Given the description of an element on the screen output the (x, y) to click on. 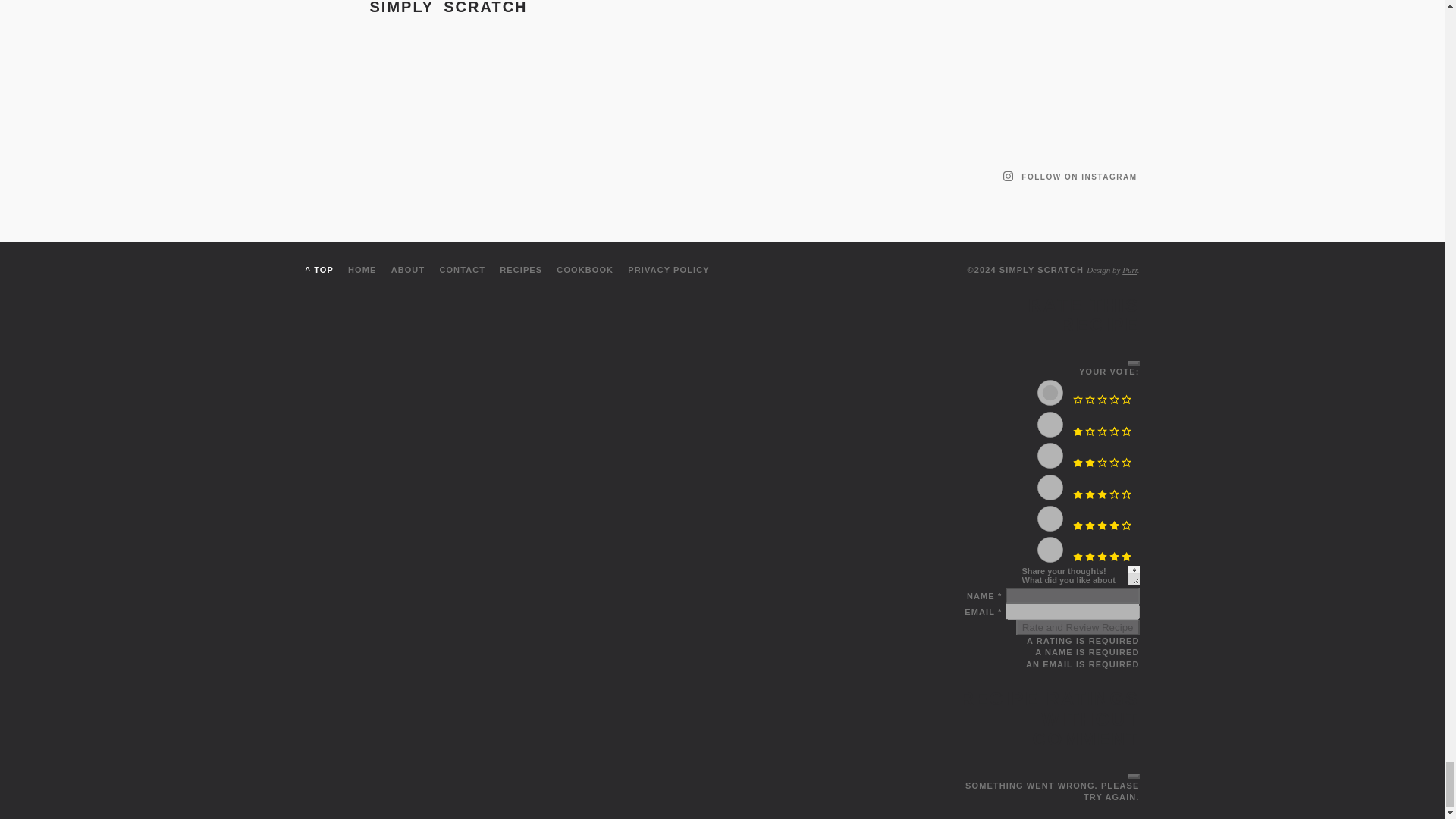
1 (1049, 424)
5 (1049, 549)
4 (1049, 518)
3 (1049, 486)
2 (1049, 455)
0 (1049, 392)
